Given the description of an element on the screen output the (x, y) to click on. 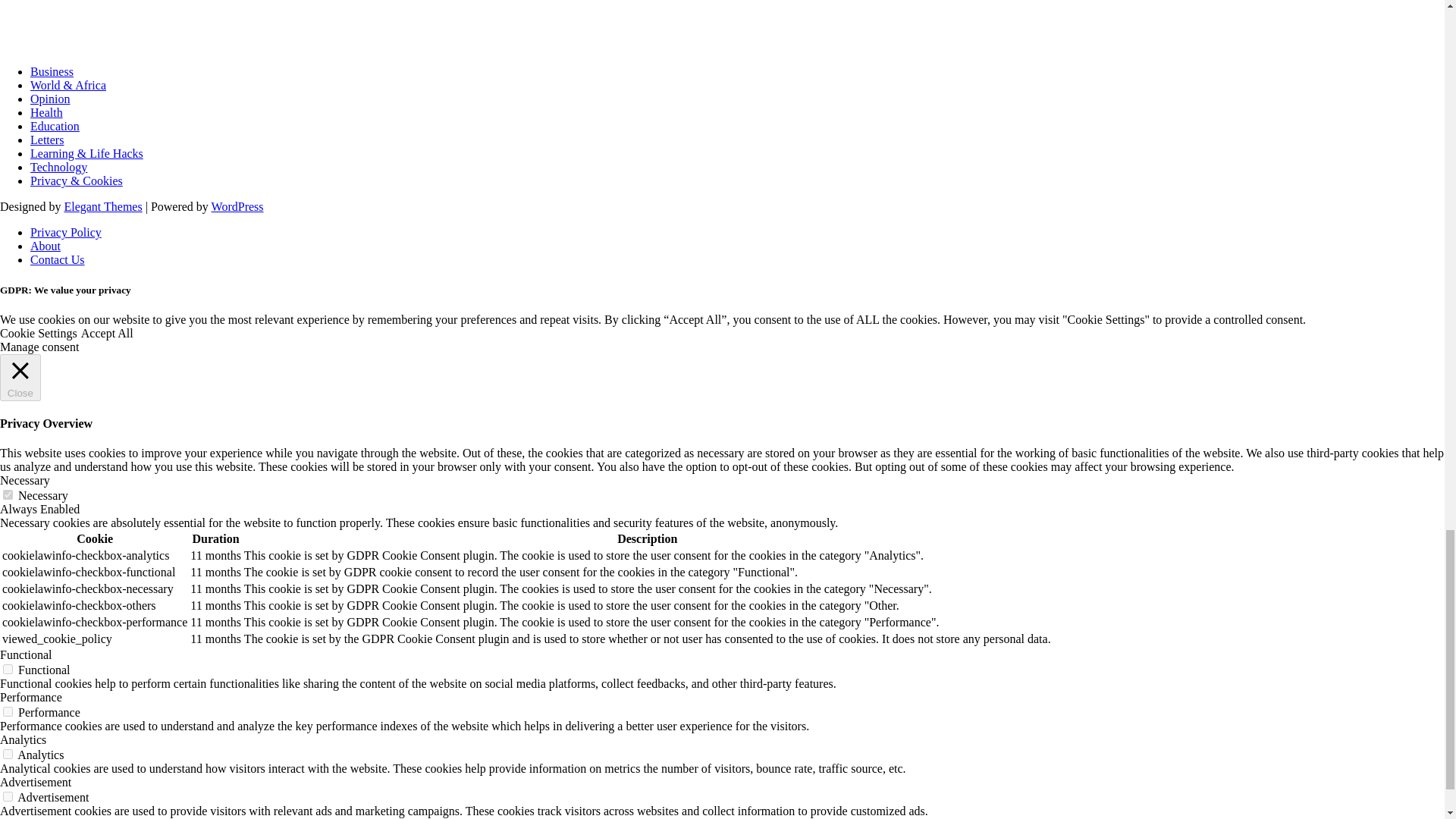
on (7, 796)
on (7, 494)
on (7, 754)
on (7, 669)
on (7, 711)
